Given the description of an element on the screen output the (x, y) to click on. 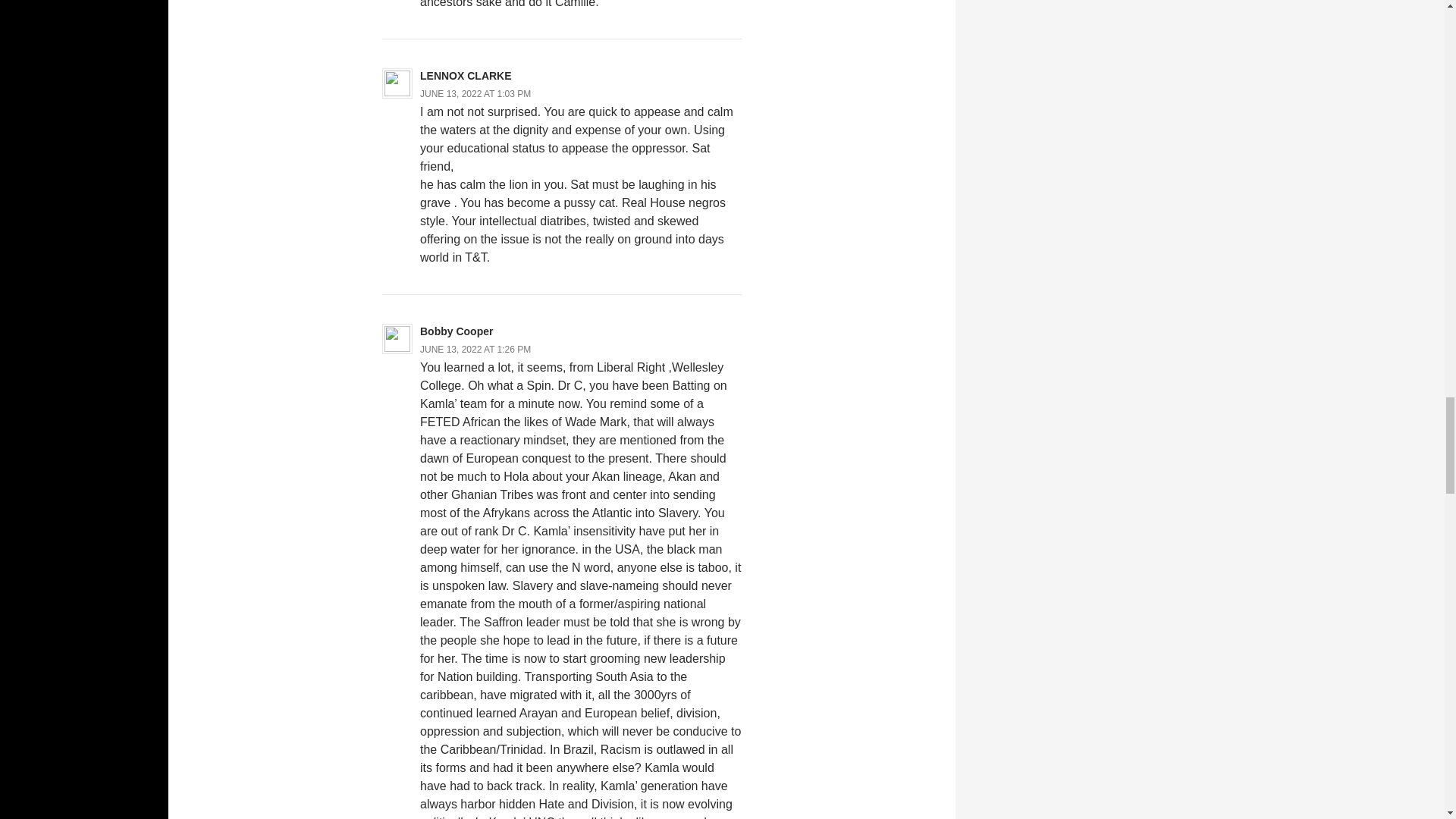
JUNE 13, 2022 AT 1:26 PM (475, 348)
JUNE 13, 2022 AT 1:03 PM (475, 93)
